Given the description of an element on the screen output the (x, y) to click on. 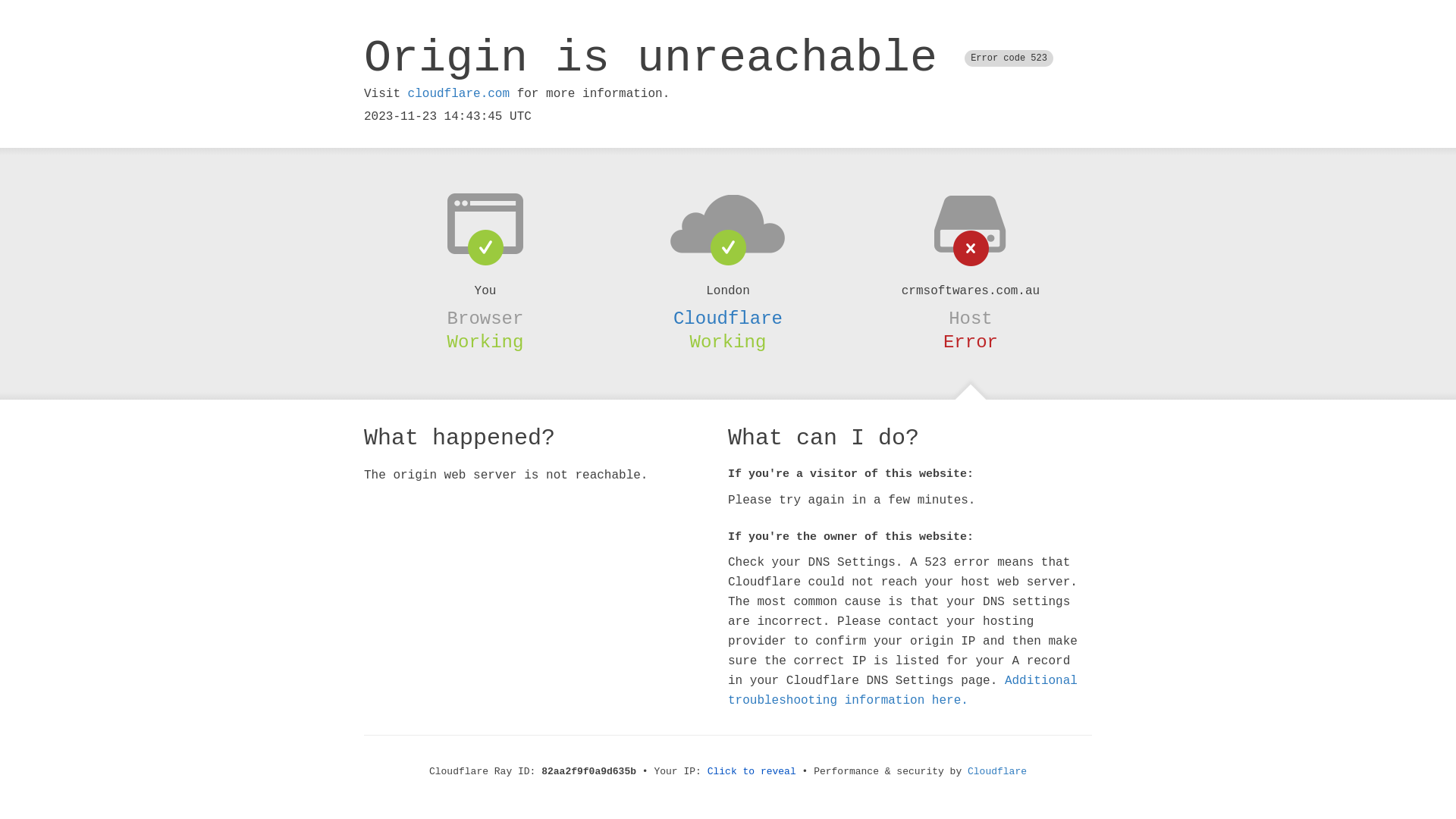
Additional troubleshooting information here. Element type: text (902, 690)
cloudflare.com Element type: text (458, 93)
Click to reveal Element type: text (751, 771)
Cloudflare Element type: text (996, 771)
Cloudflare Element type: text (727, 318)
